Given the description of an element on the screen output the (x, y) to click on. 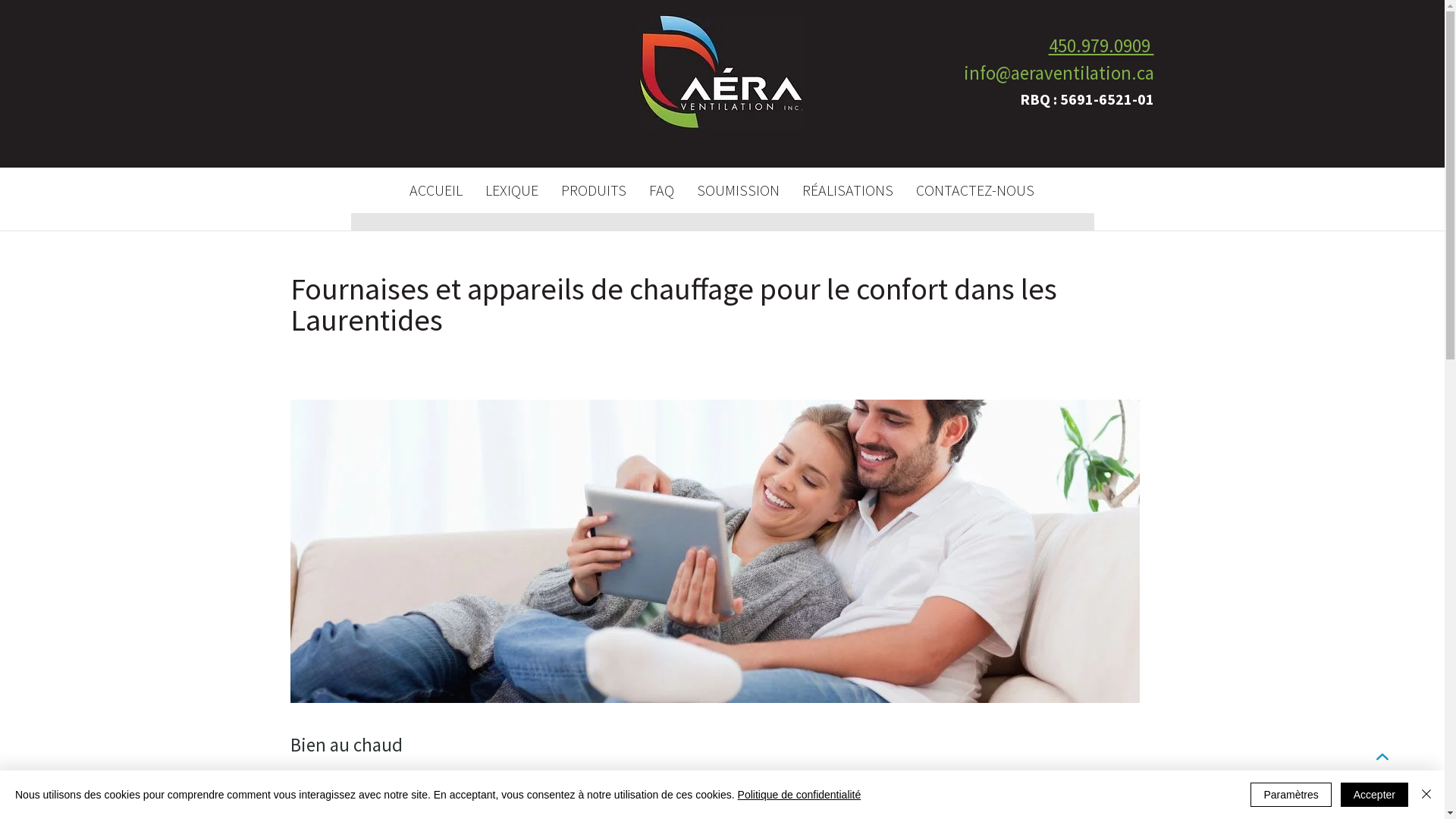
ACCUEIL Element type: text (435, 189)
CONTACTEZ-NOUS Element type: text (973, 189)
SOUMISSION Element type: text (737, 189)
FAQ Element type: text (660, 189)
450.979.0909  Element type: text (1100, 49)
LEXIQUE Element type: text (511, 189)
info@aeraventilation.ca Element type: text (1058, 76)
